Given the description of an element on the screen output the (x, y) to click on. 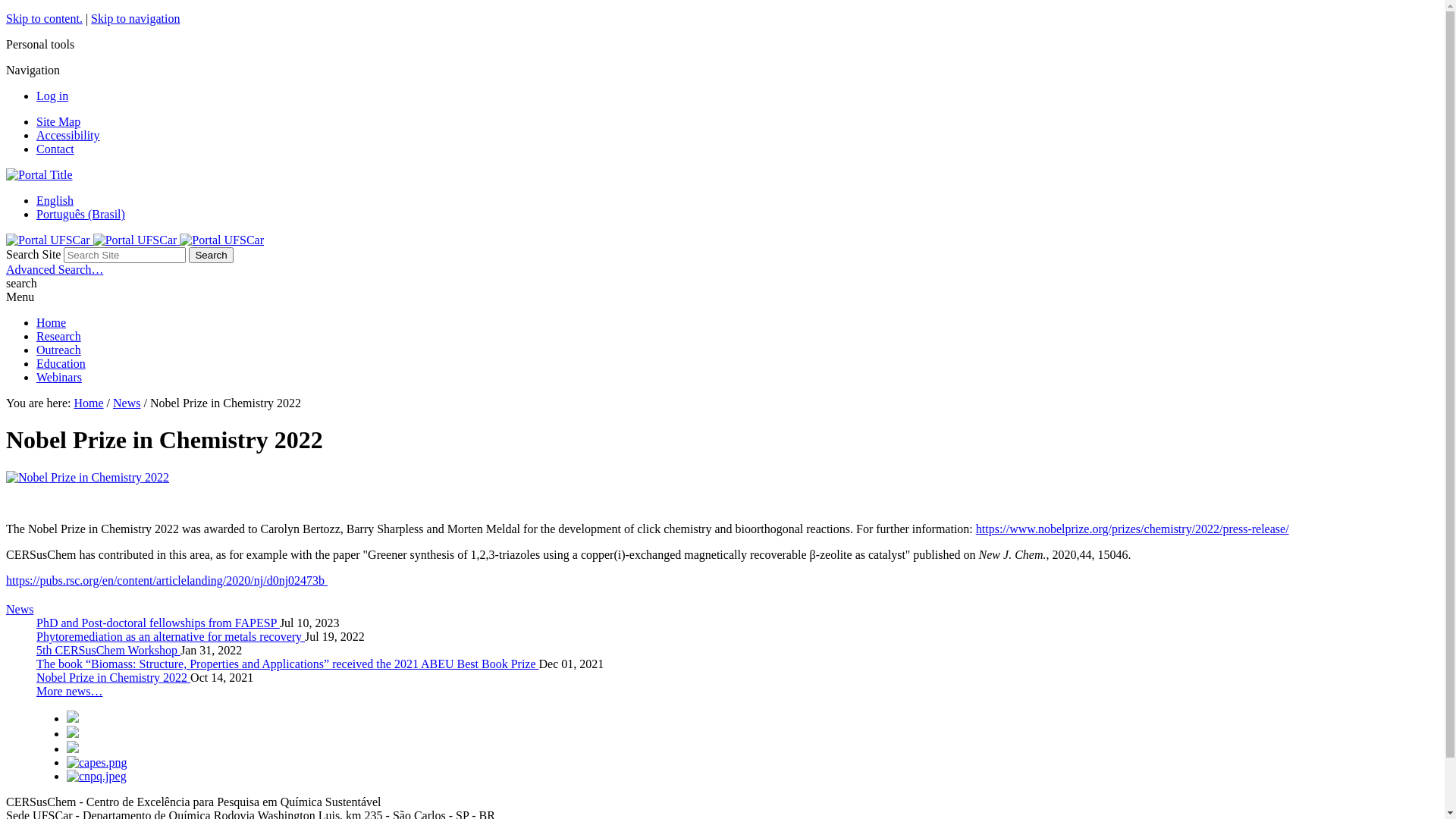
Phytoremediation as an alternative for metals recovery Element type: text (170, 636)
Accessibility Element type: text (68, 134)
News Element type: text (126, 402)
Education Element type: text (60, 363)
Home Element type: text (50, 322)
English Element type: text (54, 200)
Log in Element type: text (52, 95)
Webinars Element type: text (58, 376)
Menu Element type: text (20, 296)
cnpq.jpeg Element type: hover (96, 776)
Nobel Prize in Chemistry 2022 Element type: text (113, 677)
News Element type: text (19, 608)
Skip to content. Element type: text (44, 18)
Site Map Element type: text (58, 121)
search Element type: text (21, 282)
Outreach Element type: text (58, 349)
capes.png Element type: hover (96, 762)
Contact Element type: text (55, 148)
PhD and Post-doctoral fellowships from FAPESP Element type: text (157, 622)
5th CERSusChem Workshop Element type: text (108, 649)
Skip to navigation Element type: text (135, 18)
Research Element type: text (58, 335)
Home Element type: text (88, 402)
Search Site Element type: hover (124, 255)
Search Element type: text (210, 255)
